Given the description of an element on the screen output the (x, y) to click on. 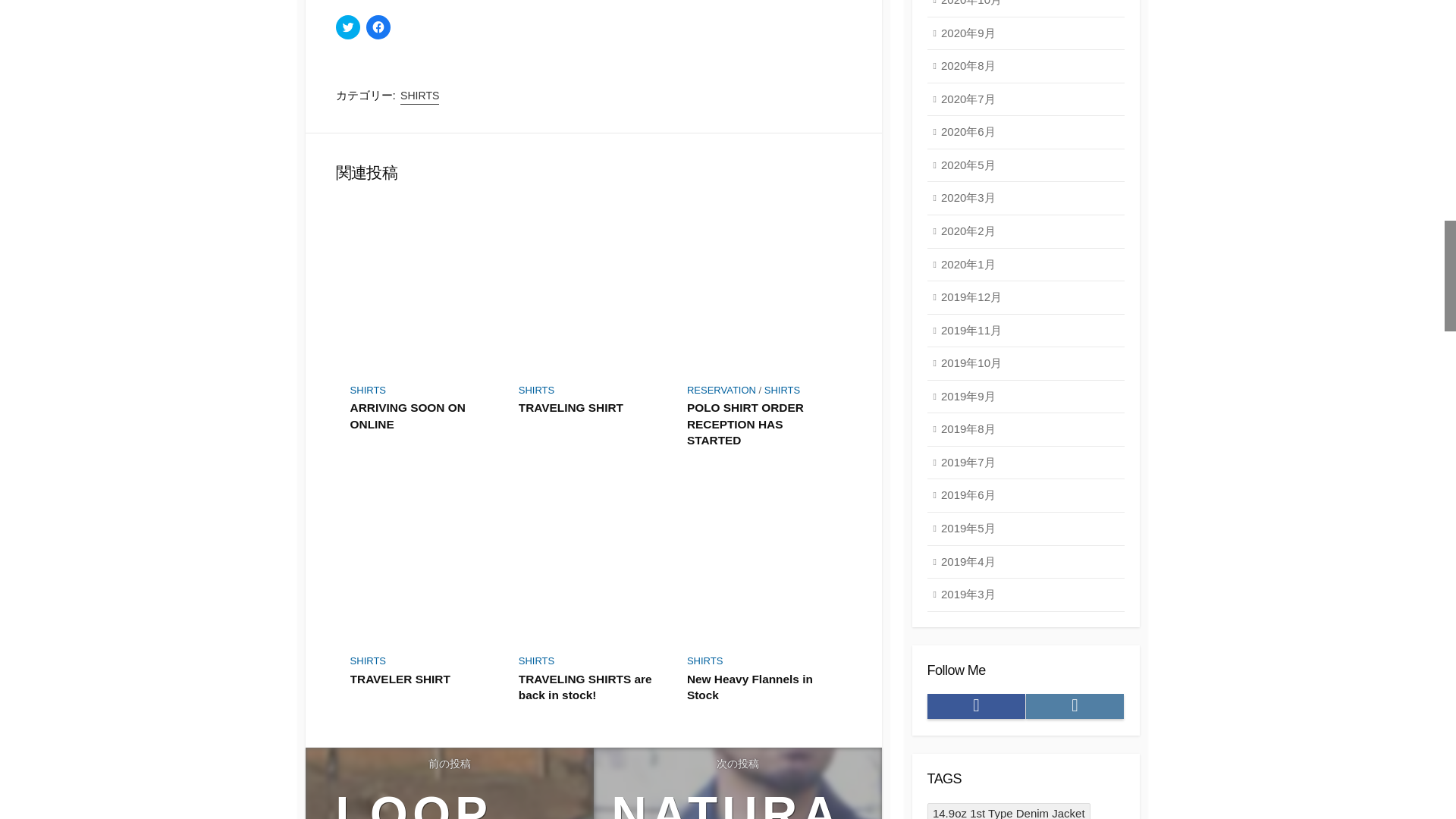
RESERVATION (721, 389)
SHIRTS (536, 660)
Facebook (976, 706)
New Heavy Flannels in Stock (762, 686)
POLO SHIRT ORDER RECEPTION HAS STARTED (762, 423)
TRAVELING SHIRT (593, 407)
SHIRTS (781, 389)
Instagram (1074, 706)
SHIRTS (536, 389)
SHIRTS (704, 660)
SHIRTS (419, 95)
ARRIVING SOON ON ONLINE (425, 415)
TRAVELING SHIRTS are back in stock! (593, 686)
TRAVELER SHIRT (425, 678)
SHIRTS (367, 660)
